Given the description of an element on the screen output the (x, y) to click on. 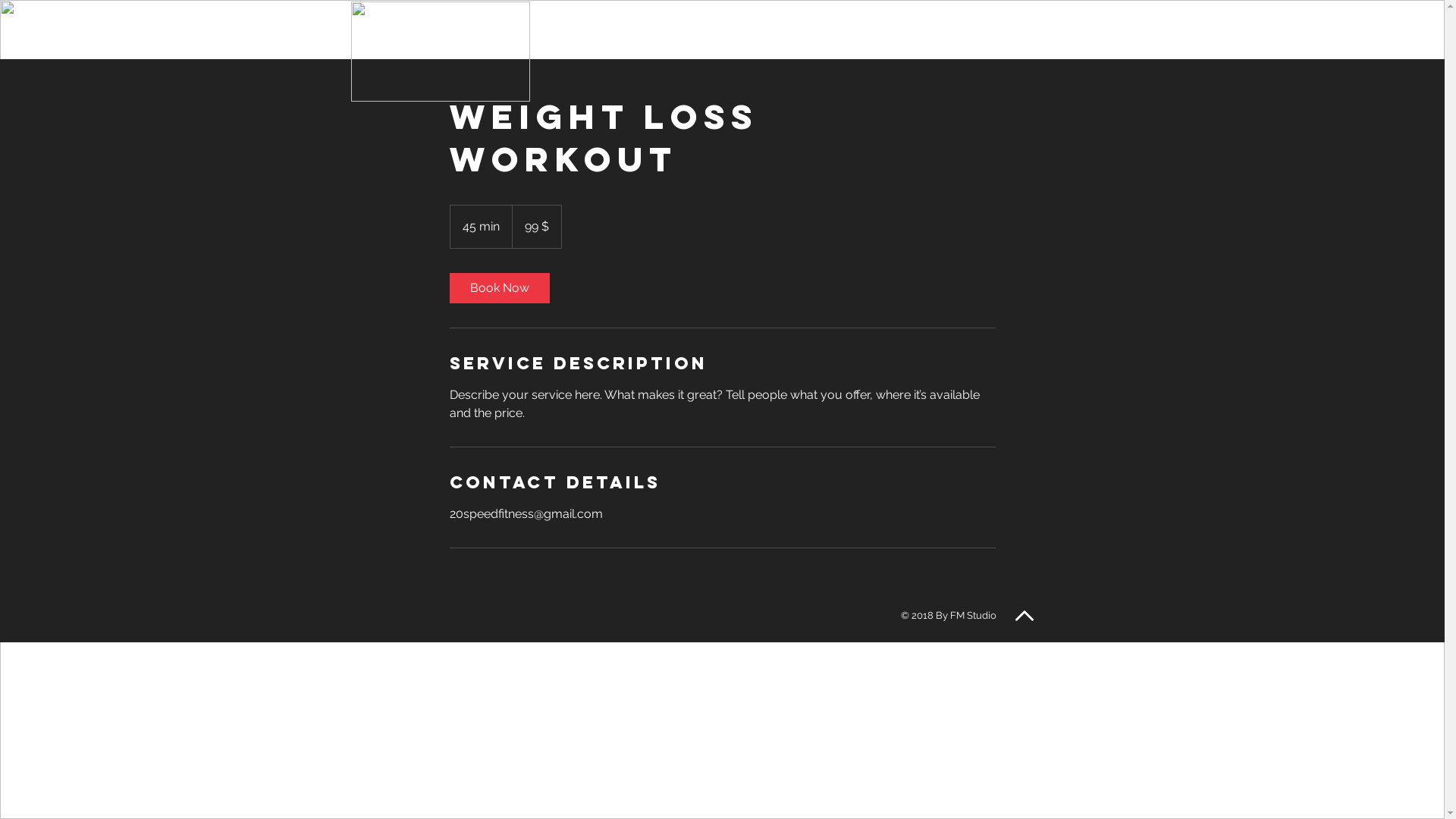
Book Now Element type: text (498, 288)
